Given the description of an element on the screen output the (x, y) to click on. 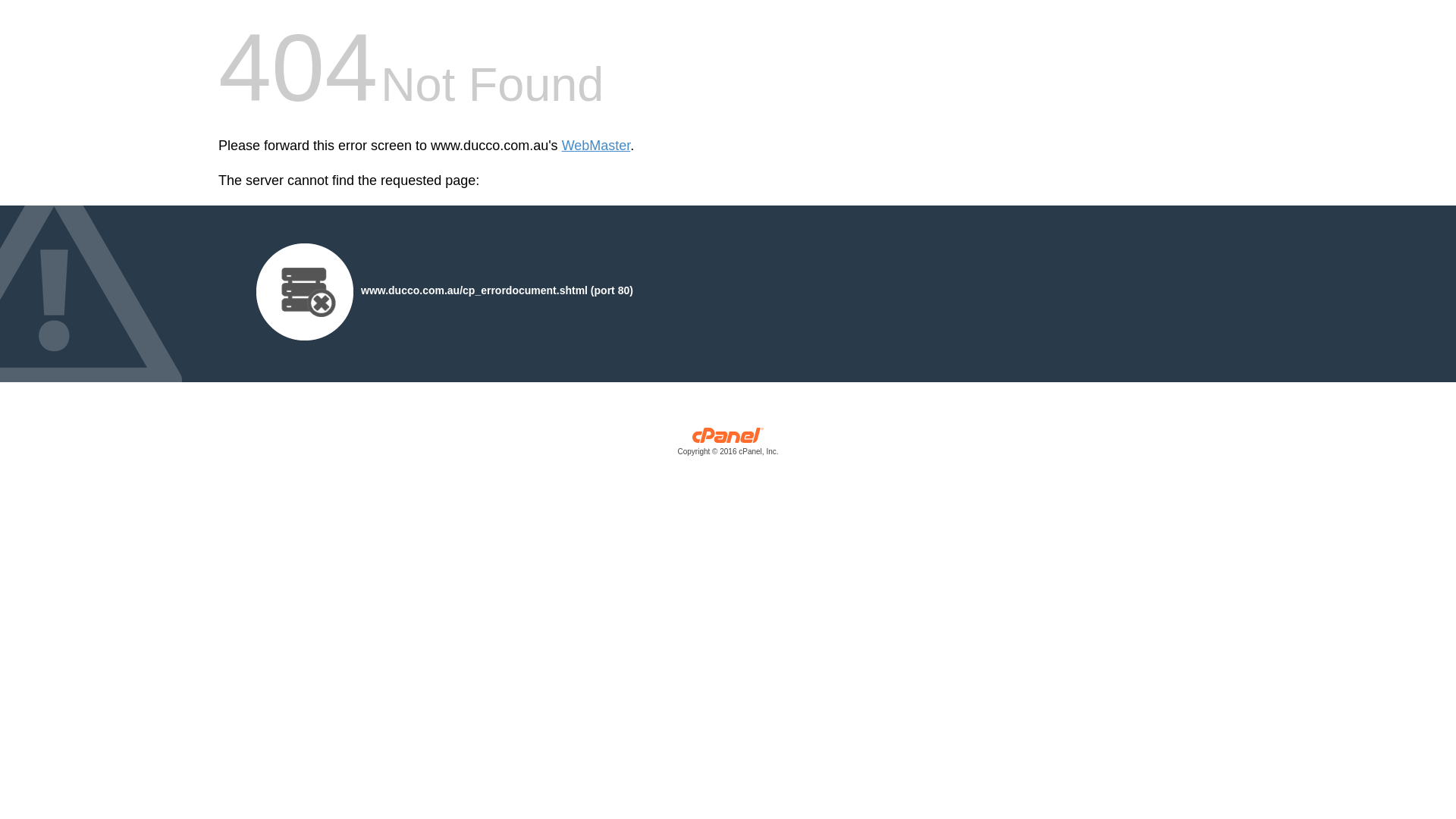
WebMaster Element type: text (595, 145)
